Given the description of an element on the screen output the (x, y) to click on. 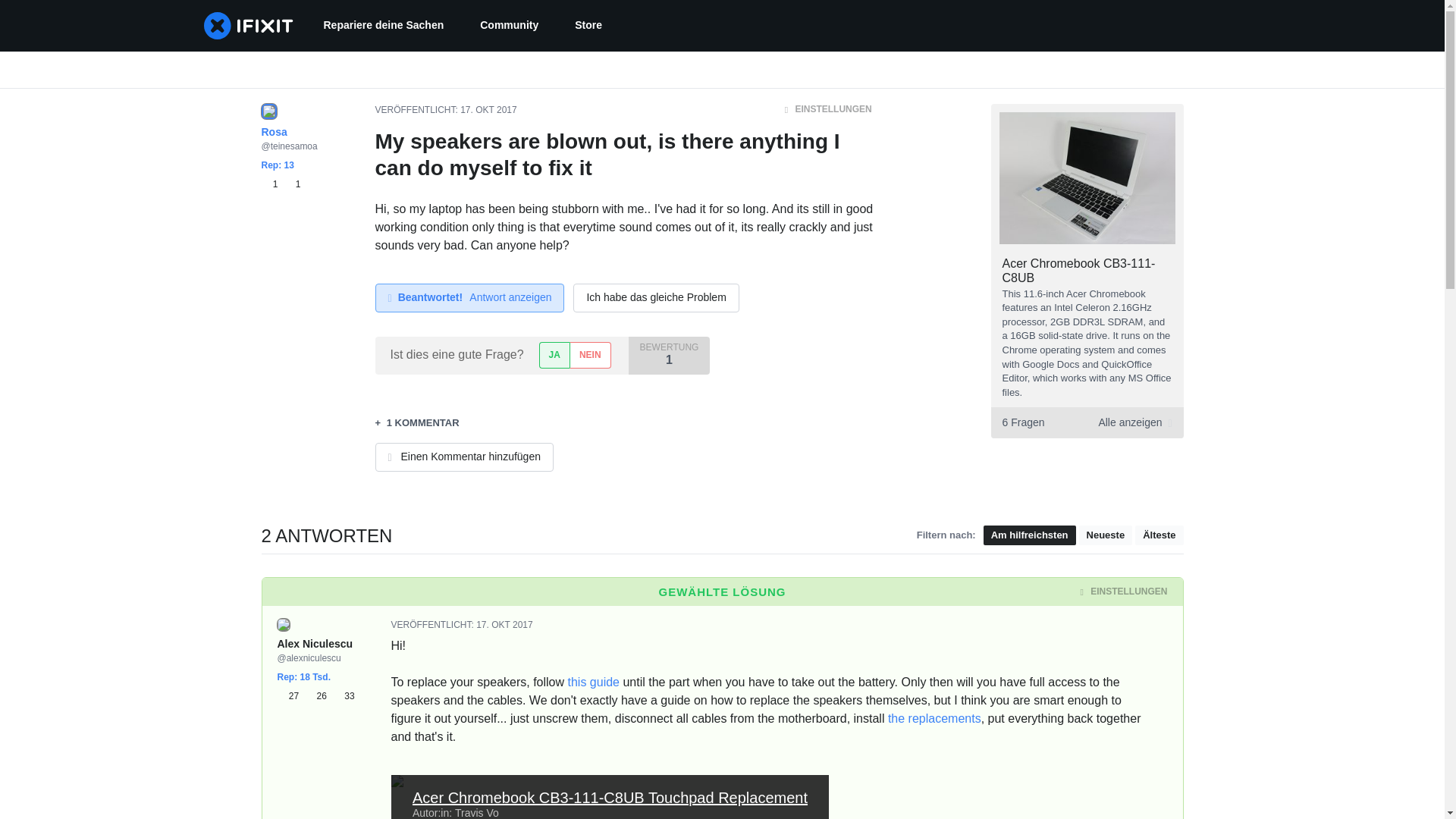
this guide (1086, 422)
Community (593, 681)
1 Bronze Auszeichnungen (508, 25)
Beantwortet! Antwort anzeigen (271, 184)
26 Silber Auszeichnungen (469, 297)
Tue, 17 Oct 2017 12:19:31 -0700 (318, 696)
27 Bronze Auszeichnungen (504, 624)
Store (291, 696)
27 26 33 (588, 25)
